Given the description of an element on the screen output the (x, y) to click on. 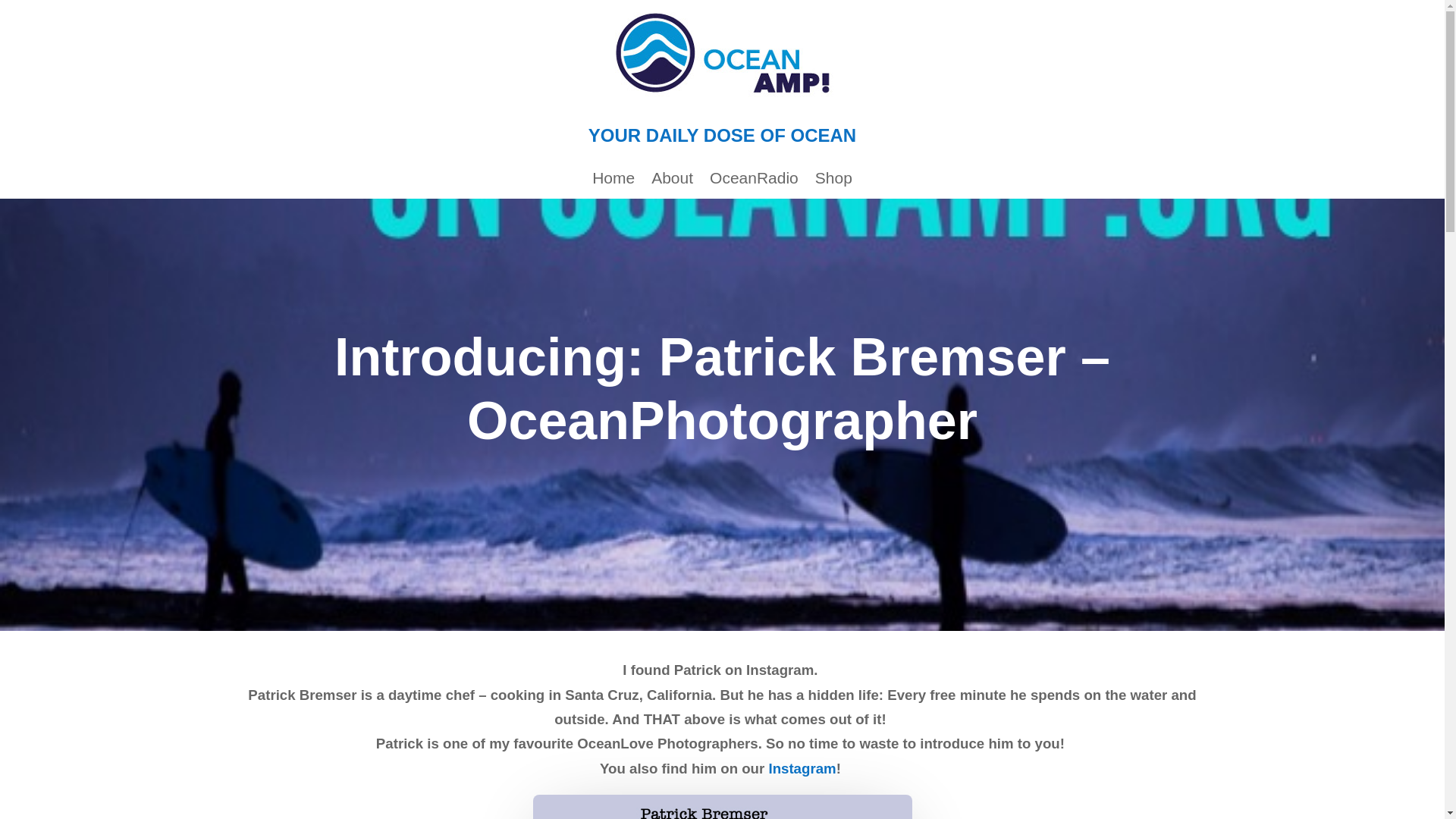
Instagram (801, 768)
Shop (833, 180)
Home (613, 180)
OceanRadio (753, 180)
About (671, 180)
